Given the description of an element on the screen output the (x, y) to click on. 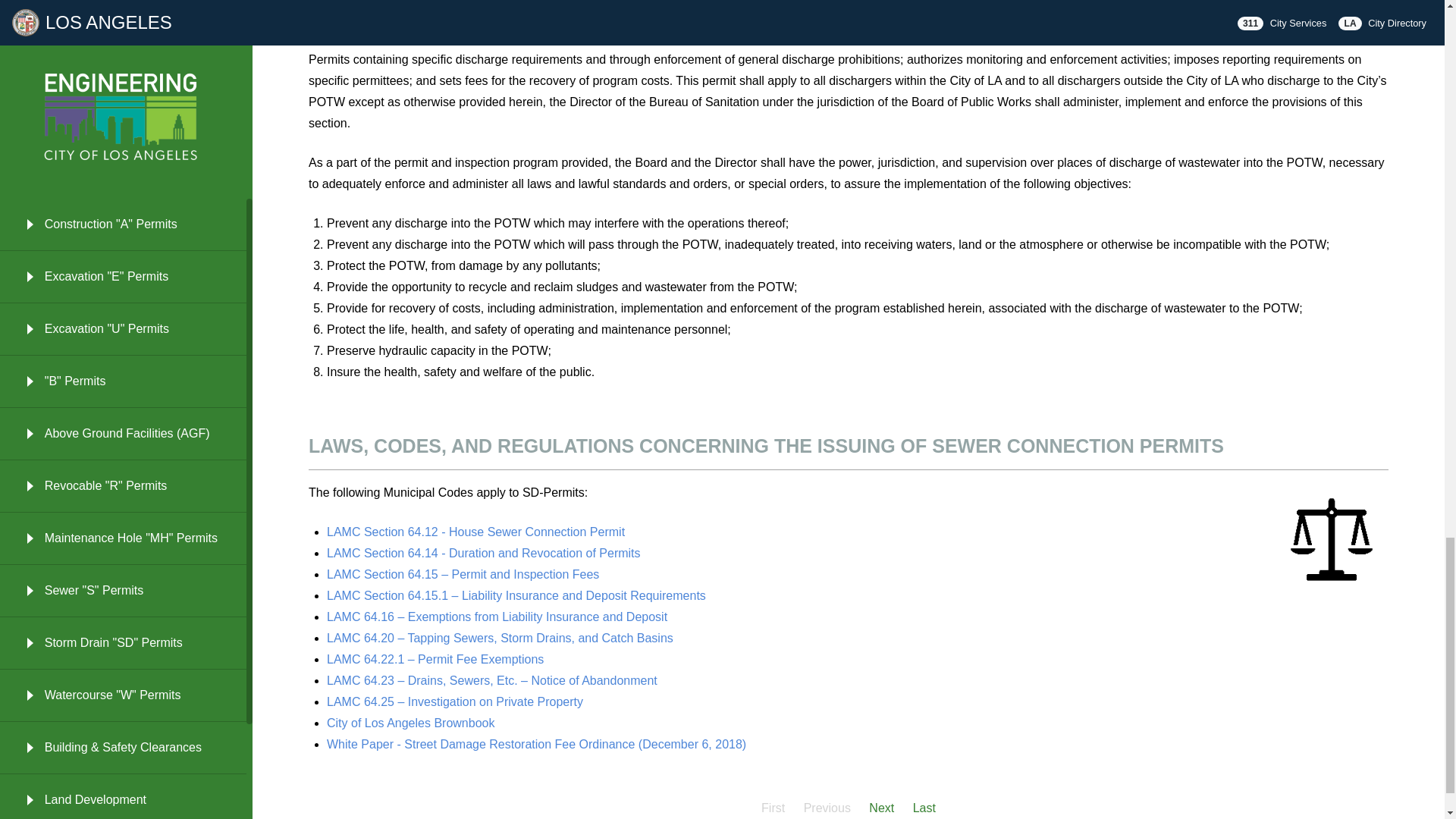
LAMC 64.30 (521, 38)
LAMC 64.12 (475, 531)
LAMC 64.30.3 (604, 38)
